Given the description of an element on the screen output the (x, y) to click on. 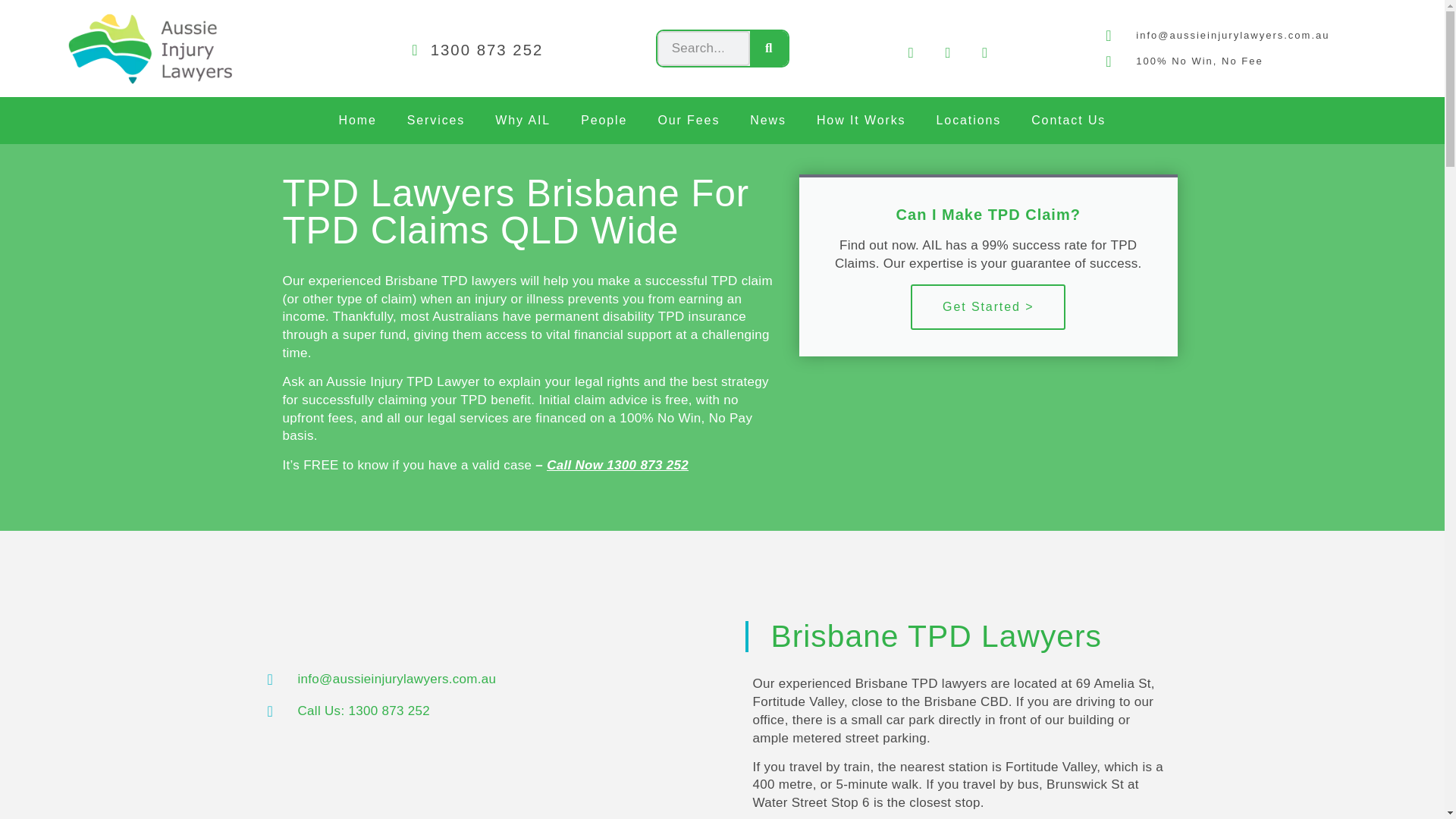
Home (357, 120)
Services (435, 120)
Our Fees (688, 120)
Contact Us (1068, 120)
1300 873 252 (471, 50)
Why AIL (523, 120)
People (604, 120)
How It Works (861, 120)
Locations (968, 120)
News (768, 120)
